Given the description of an element on the screen output the (x, y) to click on. 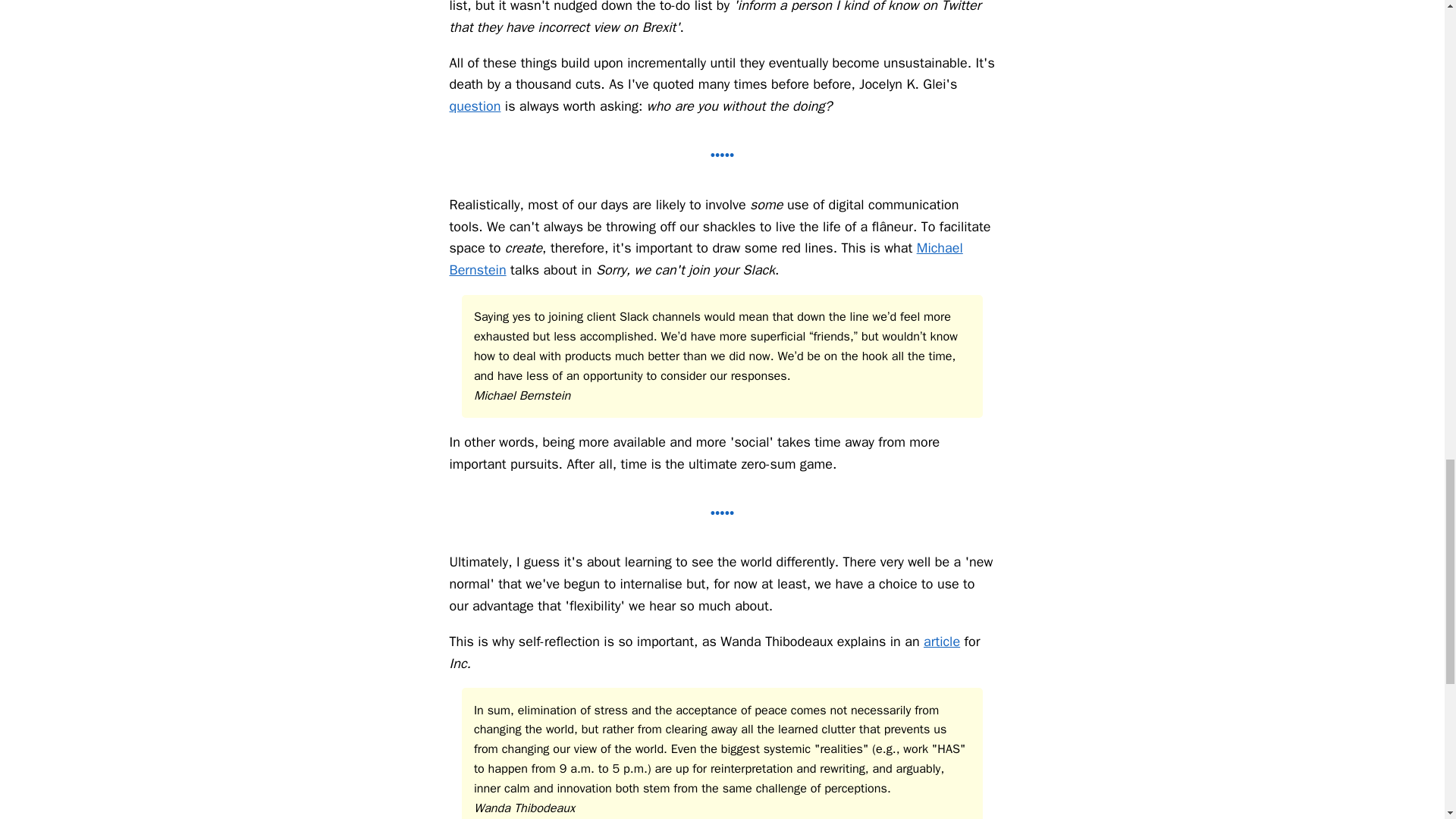
question (474, 105)
